Given the description of an element on the screen output the (x, y) to click on. 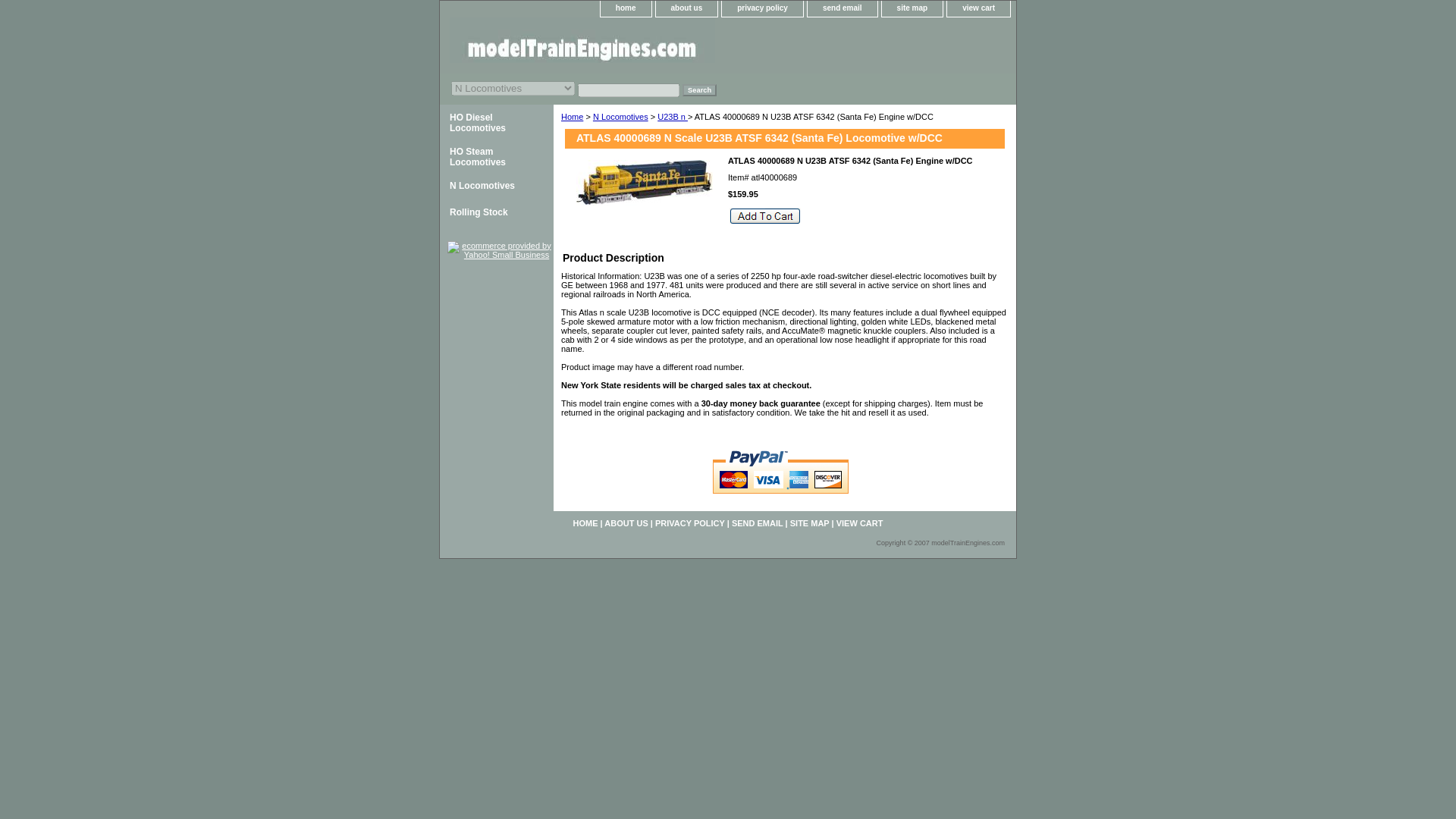
SEND EMAIL (757, 522)
N Locomotives (496, 185)
U23B n (672, 116)
send email (842, 8)
PRIVACY POLICY (690, 522)
HOME (585, 522)
privacy policy (762, 8)
Search (699, 90)
ABOUT US (625, 522)
HO Steam Locomotives (496, 155)
